Given the description of an element on the screen output the (x, y) to click on. 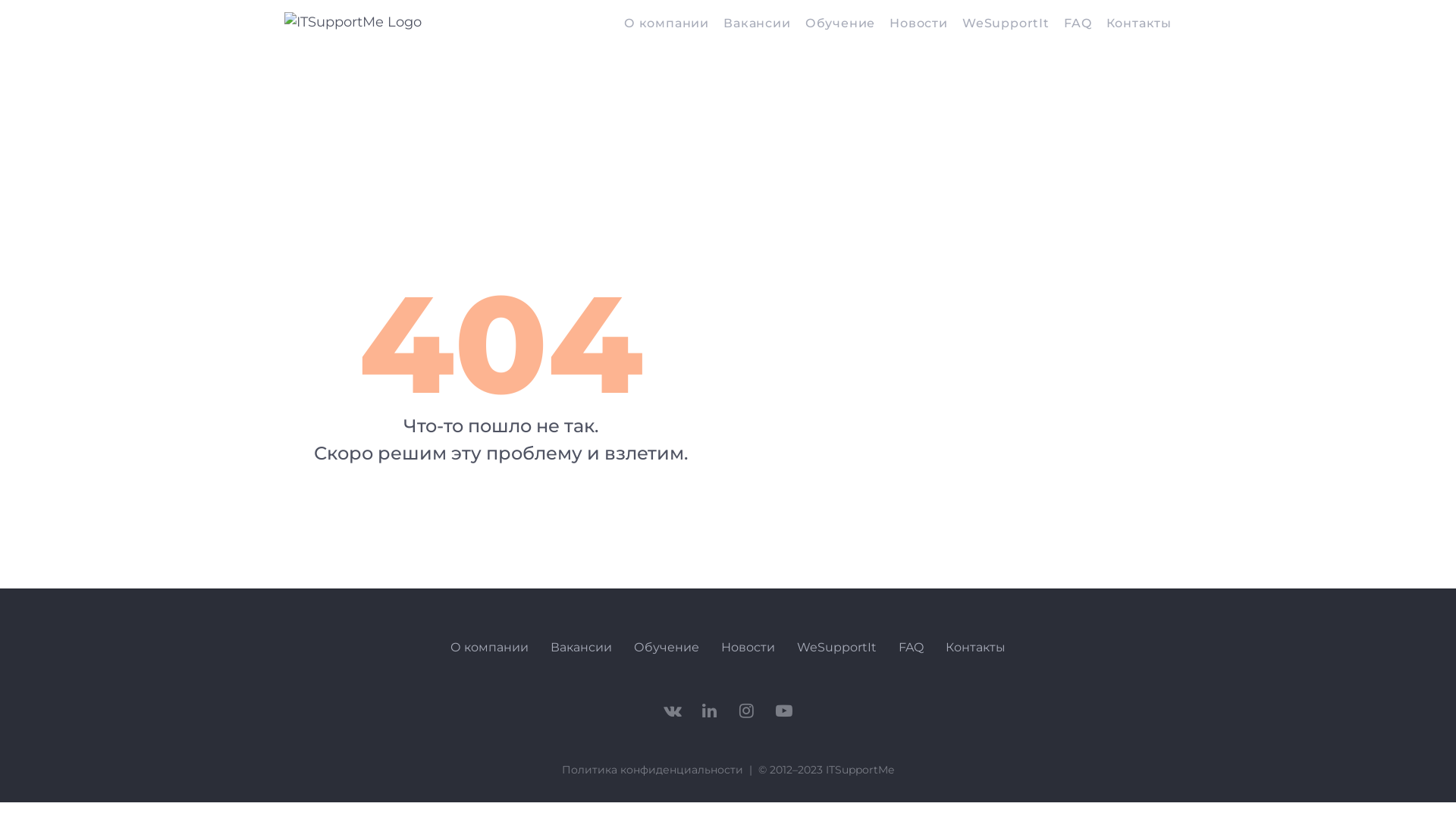
FAQ Element type: text (1077, 24)
WeSupportIt Element type: text (836, 648)
WeSupportIt Element type: text (1005, 24)
FAQ Element type: text (910, 648)
